Given the description of an element on the screen output the (x, y) to click on. 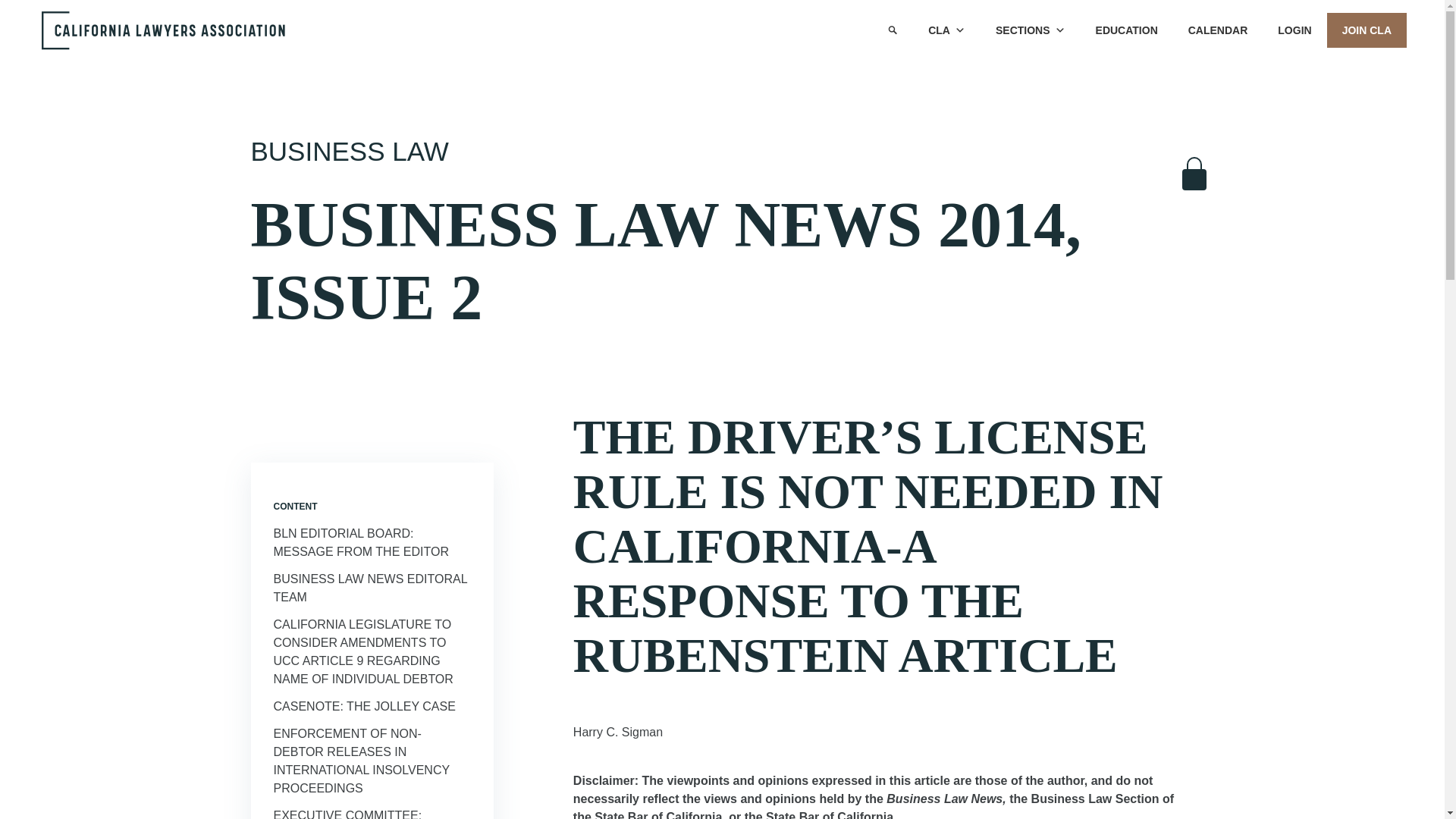
SECTIONS (1029, 30)
Business Law News Editoral Team (369, 587)
Casenote: the Jolley Case (363, 706)
CLA (945, 30)
Executive Committee: Message from the Chair (357, 814)
Bln Editorial Board: Message from the Editor (360, 542)
